Given the description of an element on the screen output the (x, y) to click on. 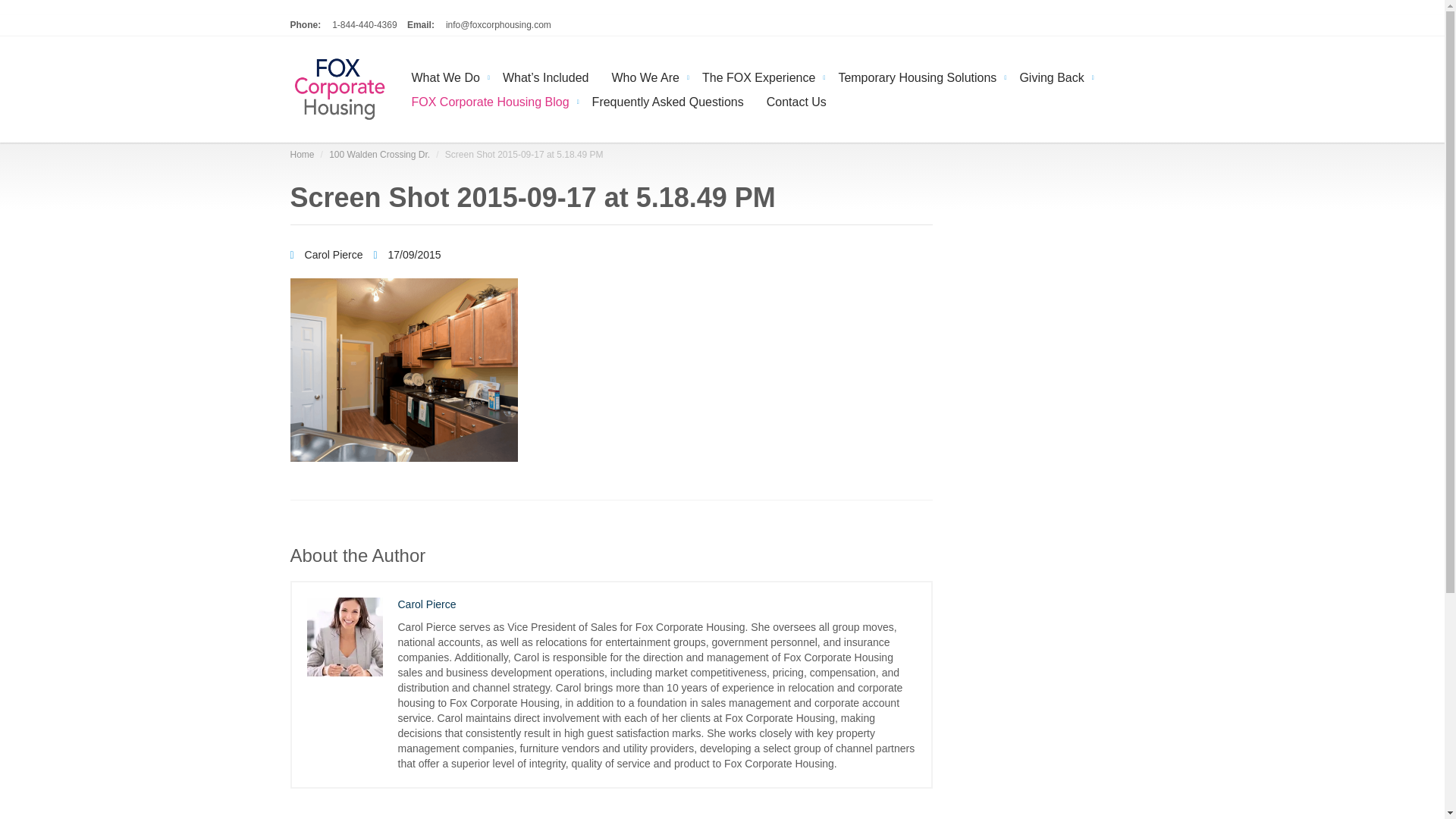
Who We Are (644, 75)
Home (301, 154)
Carol Pierce (327, 254)
100 Walden Crossing Dr. (379, 154)
Giving Back (1050, 75)
What We Do (446, 75)
1-844-440-4369 (363, 24)
Frequently Asked Questions (667, 100)
Contact Us (796, 100)
Temporary Housing Solutions (917, 75)
The FOX Experience (758, 75)
FOX Corporate Housing (301, 154)
FOX Corporate Housing Blog (490, 100)
100 Walden Crossing Dr. (379, 154)
Corporate Housing, Short-term housing, Furnished Apartments (338, 89)
